Given the description of an element on the screen output the (x, y) to click on. 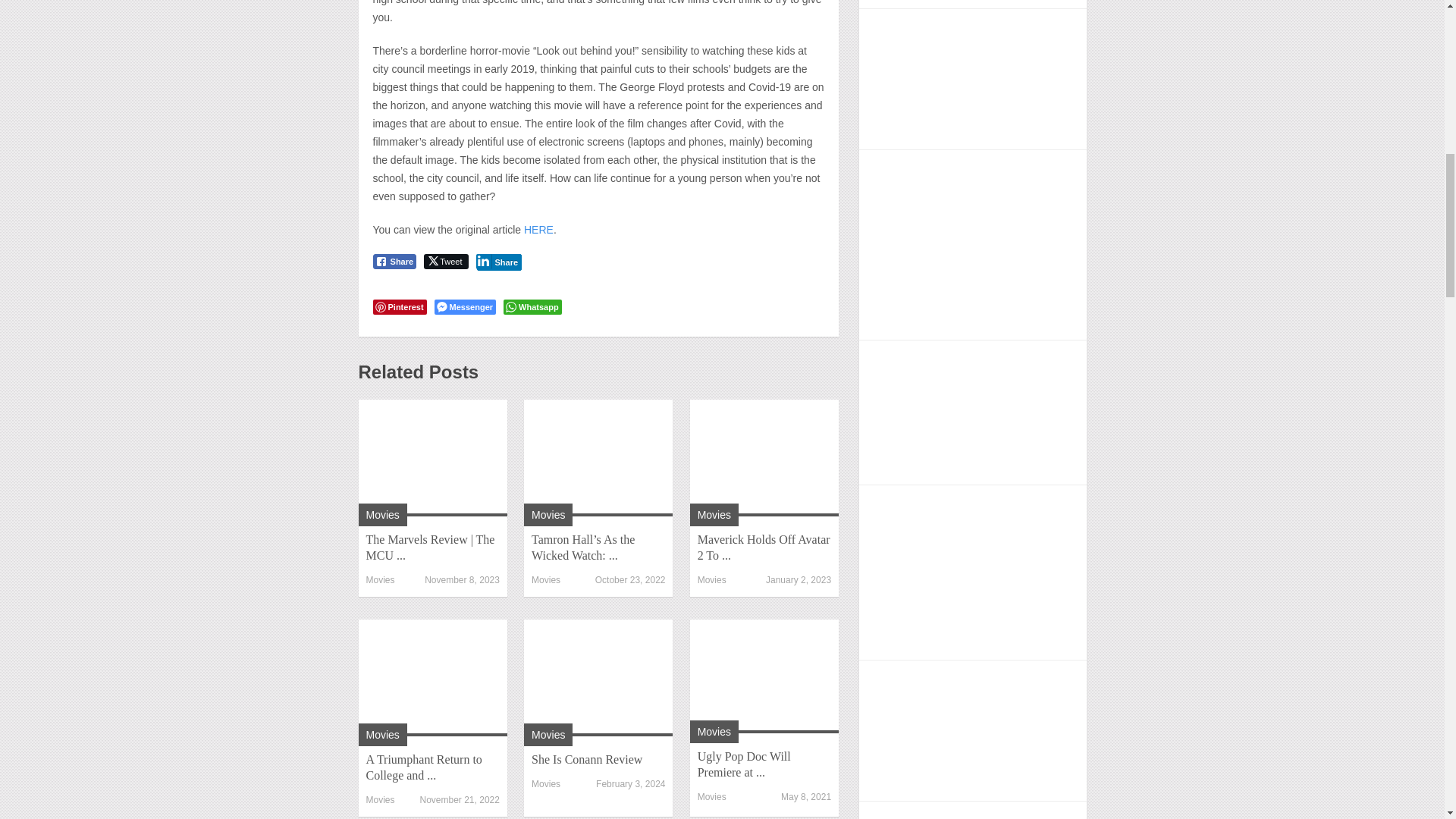
Whatsapp (532, 306)
HERE (537, 229)
Pinterest (399, 306)
Messenger (464, 306)
Share (499, 261)
Share (394, 261)
Tweet (445, 261)
